Given the description of an element on the screen output the (x, y) to click on. 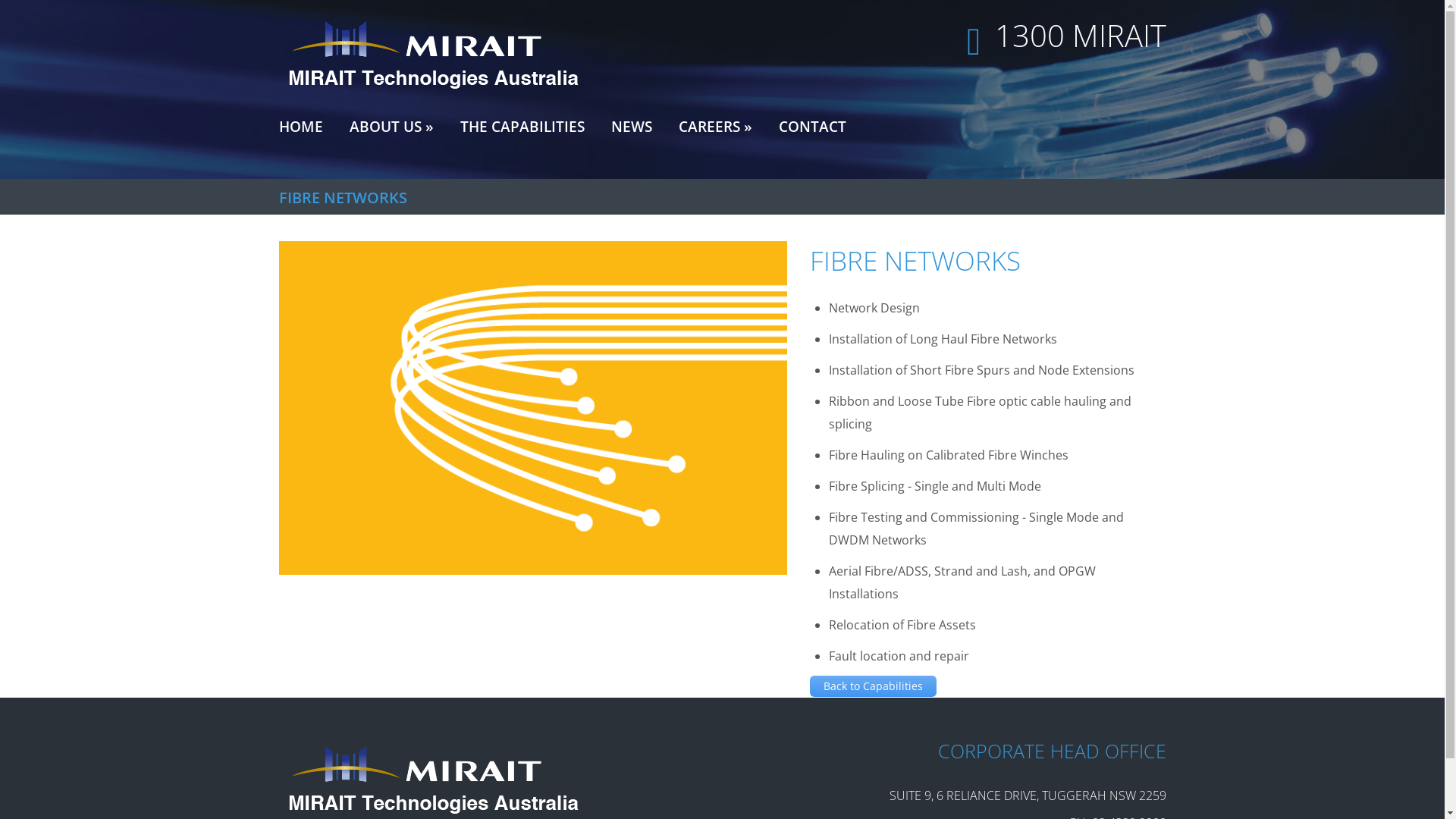
THE CAPABILITIES Element type: text (521, 124)
CONTACT Element type: text (811, 124)
Back to Capabilities Element type: text (872, 685)
HOME Element type: text (301, 124)
NEWS Element type: text (631, 124)
